Given the description of an element on the screen output the (x, y) to click on. 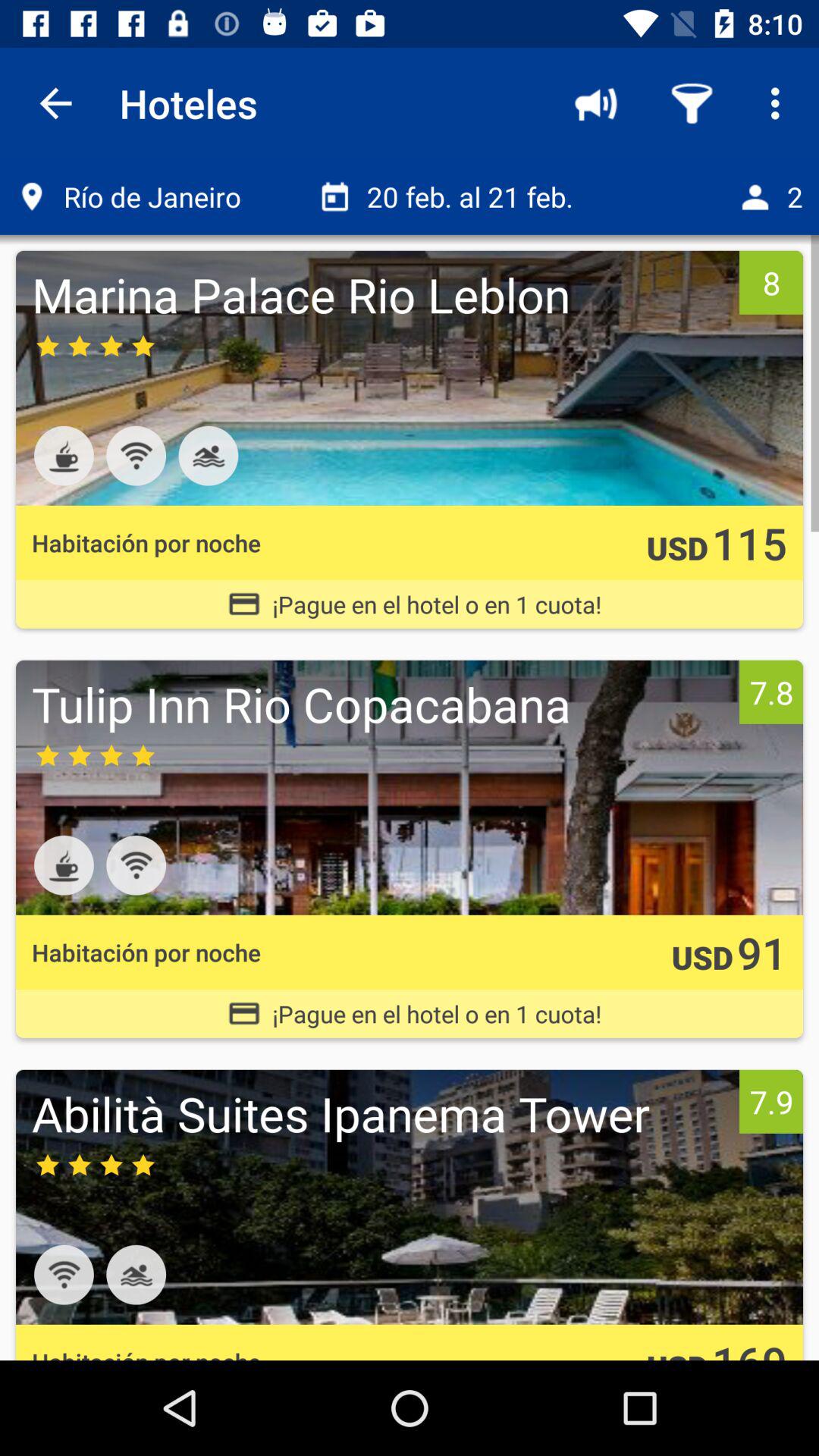
select the icon above the 20 feb al icon (691, 103)
